Given the description of an element on the screen output the (x, y) to click on. 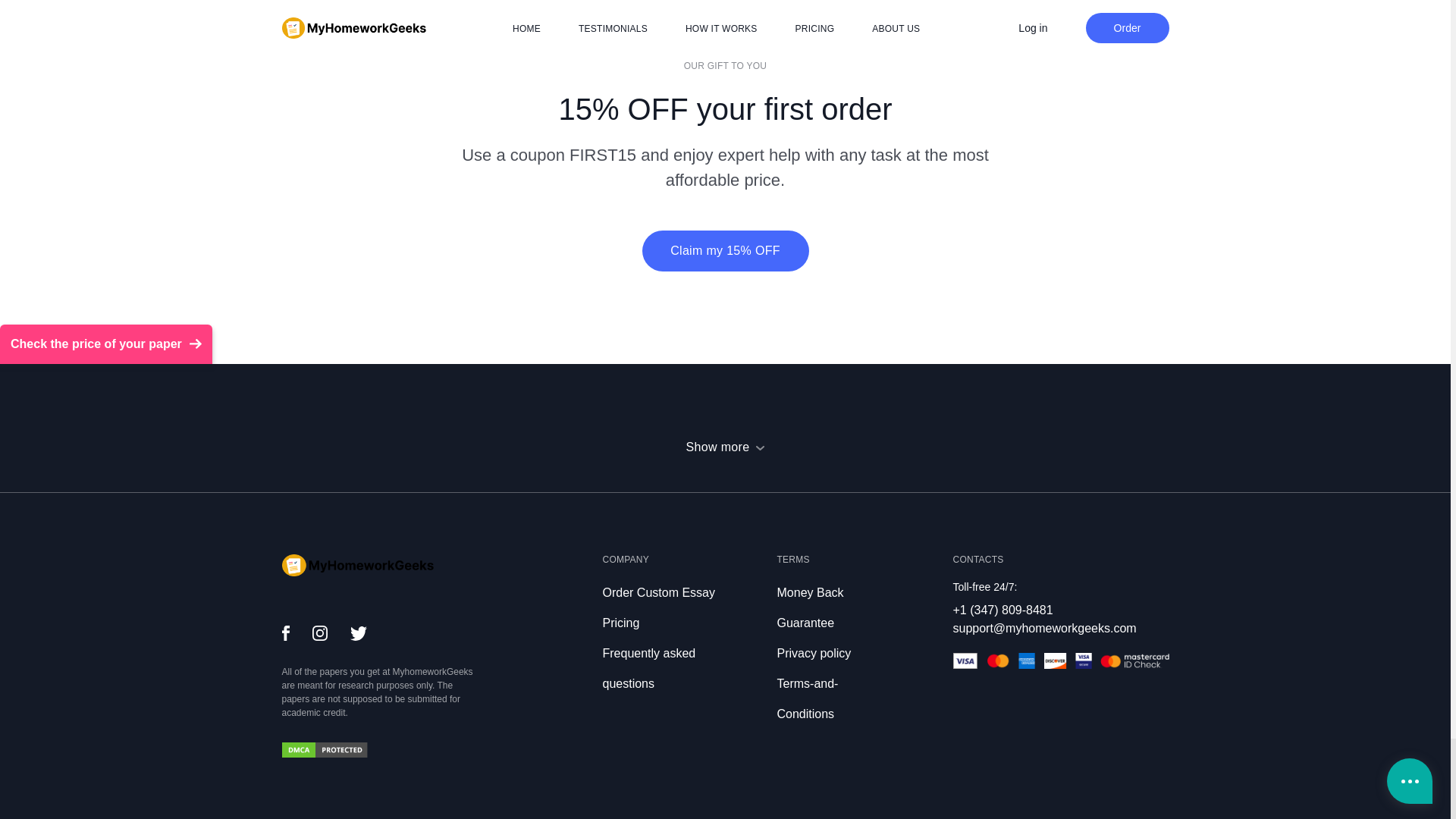
Show more (725, 446)
Order Custom Essay (658, 592)
Pricing (620, 622)
Privacy policy (813, 653)
Money Back Guarantee (809, 607)
Terms-and-Conditions (807, 698)
Frequently asked questions (648, 668)
